Given the description of an element on the screen output the (x, y) to click on. 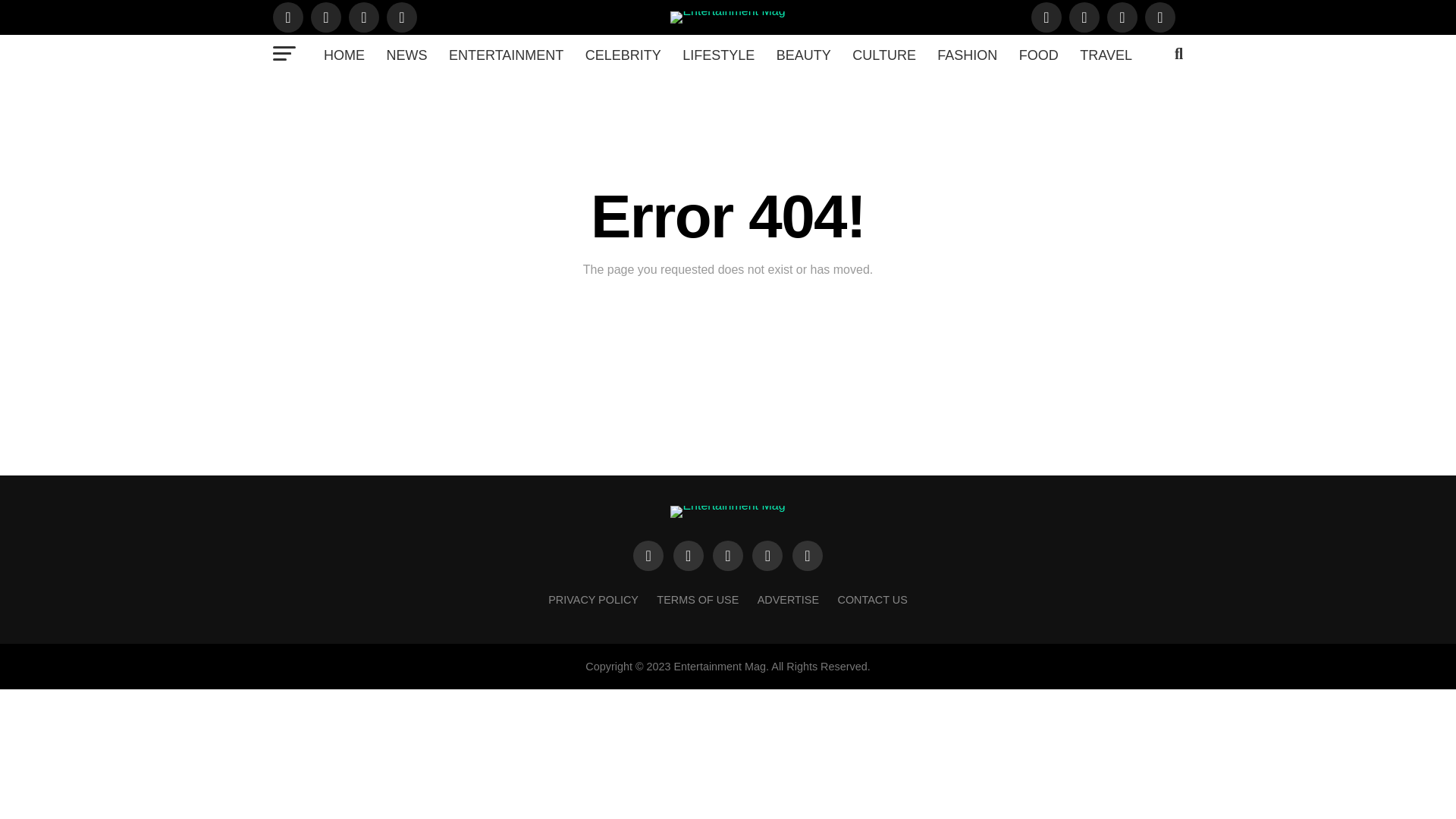
HOME (344, 55)
ENTERTAINMENT (505, 55)
CELEBRITY (622, 55)
NEWS (406, 55)
